Given the description of an element on the screen output the (x, y) to click on. 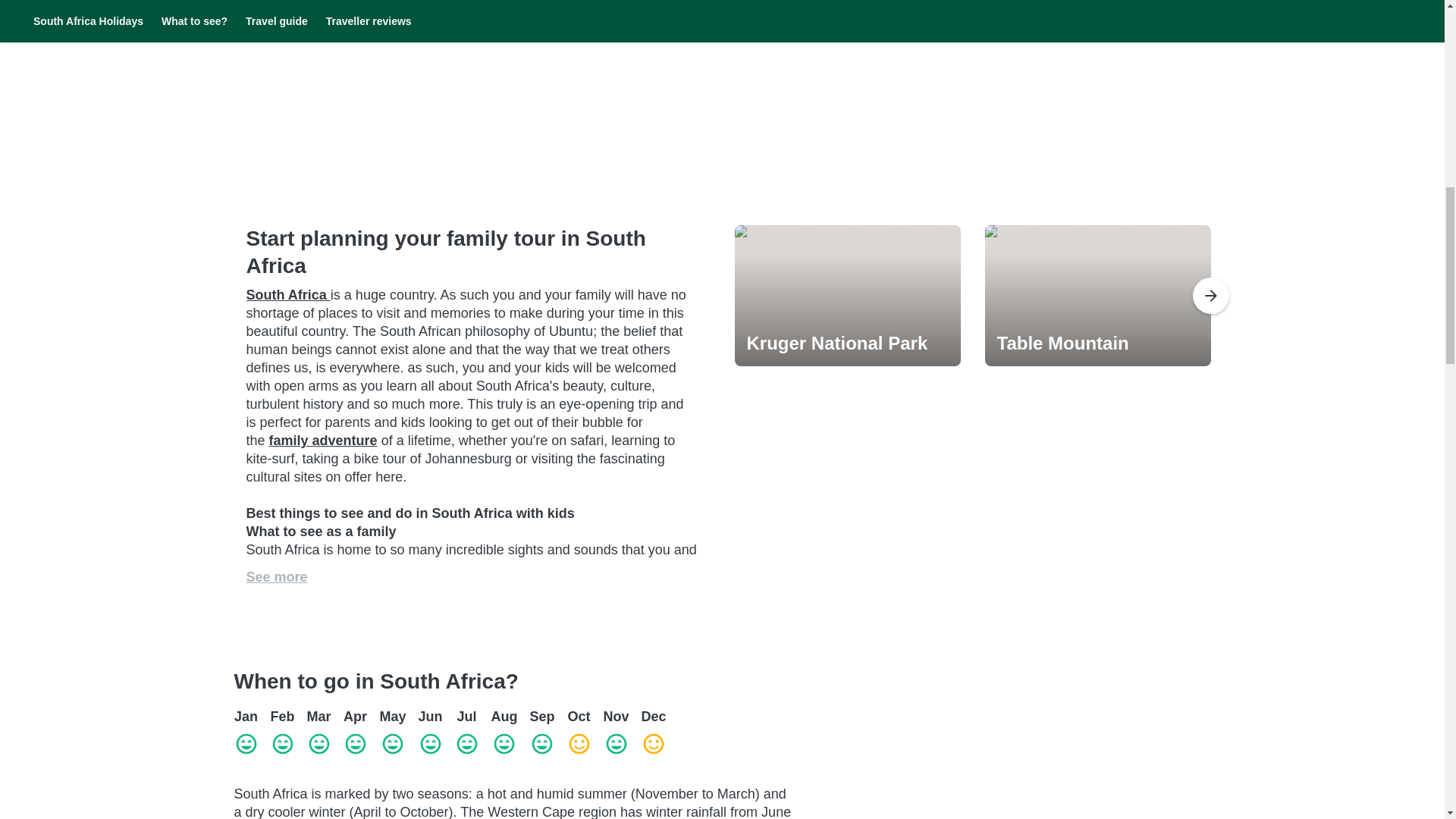
When to go in South Africa? (512, 681)
family adventure (323, 440)
See more (276, 576)
When to go in South Africa? (512, 681)
South Africa  (288, 294)
